Given the description of an element on the screen output the (x, y) to click on. 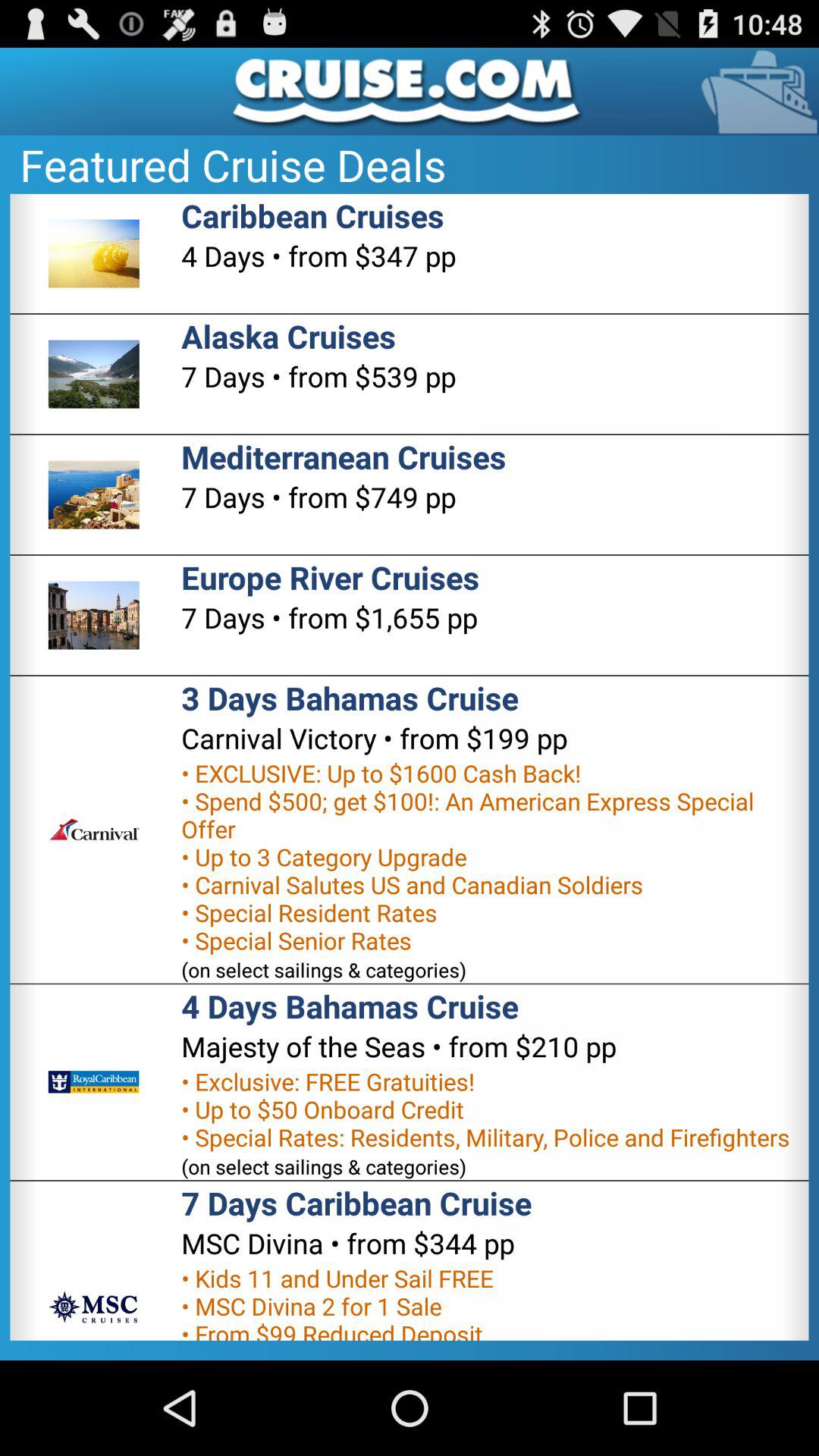
jump until carnival victory from (374, 738)
